Given the description of an element on the screen output the (x, y) to click on. 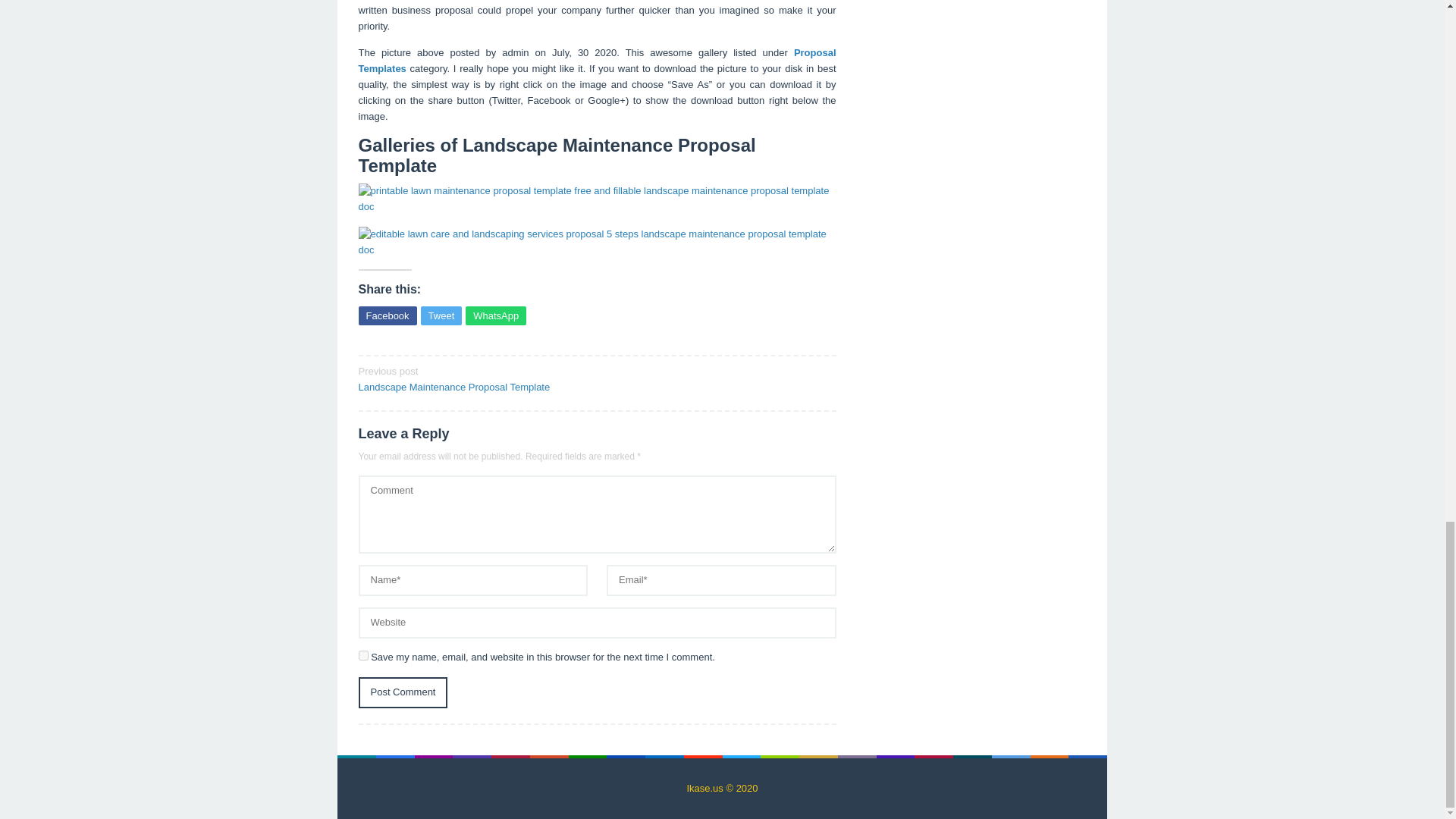
WhatsApp this (495, 315)
Tweet this (441, 315)
Share this (387, 315)
Facebook (387, 315)
Tweet (472, 378)
Post Comment (441, 315)
Proposal Templates (402, 692)
Post Comment (596, 60)
yes (402, 692)
